Given the description of an element on the screen output the (x, y) to click on. 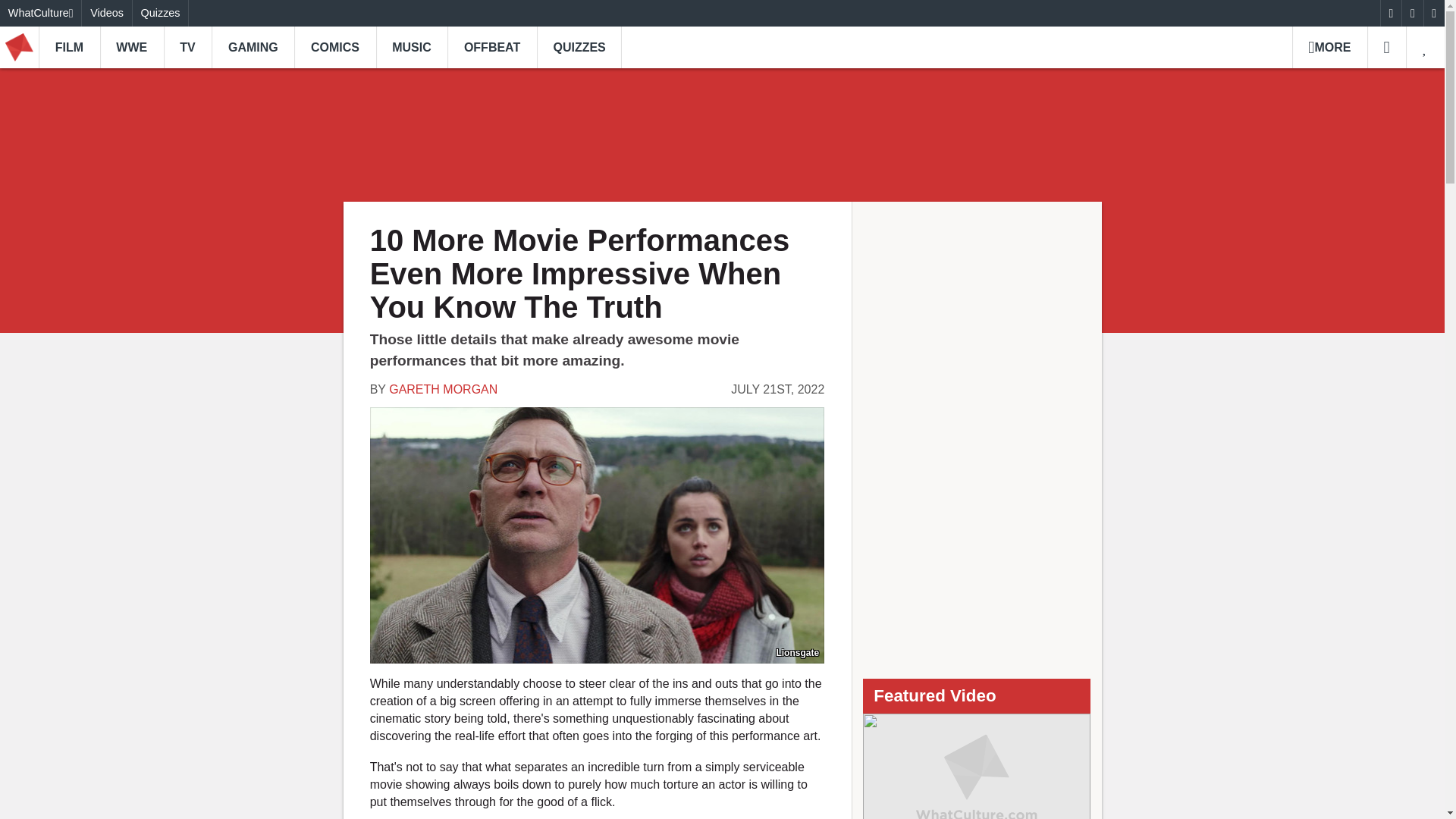
SEARCH (1386, 46)
Featured Video (976, 766)
FILM (69, 46)
Quizzes (160, 13)
QUIZZES (580, 46)
MUSIC (411, 46)
GAMING (252, 46)
Search (1386, 46)
COMICS (334, 46)
WWE (131, 46)
OFFBEAT (491, 46)
MORE (1329, 46)
Videos (106, 13)
TV (187, 46)
